Given the description of an element on the screen output the (x, y) to click on. 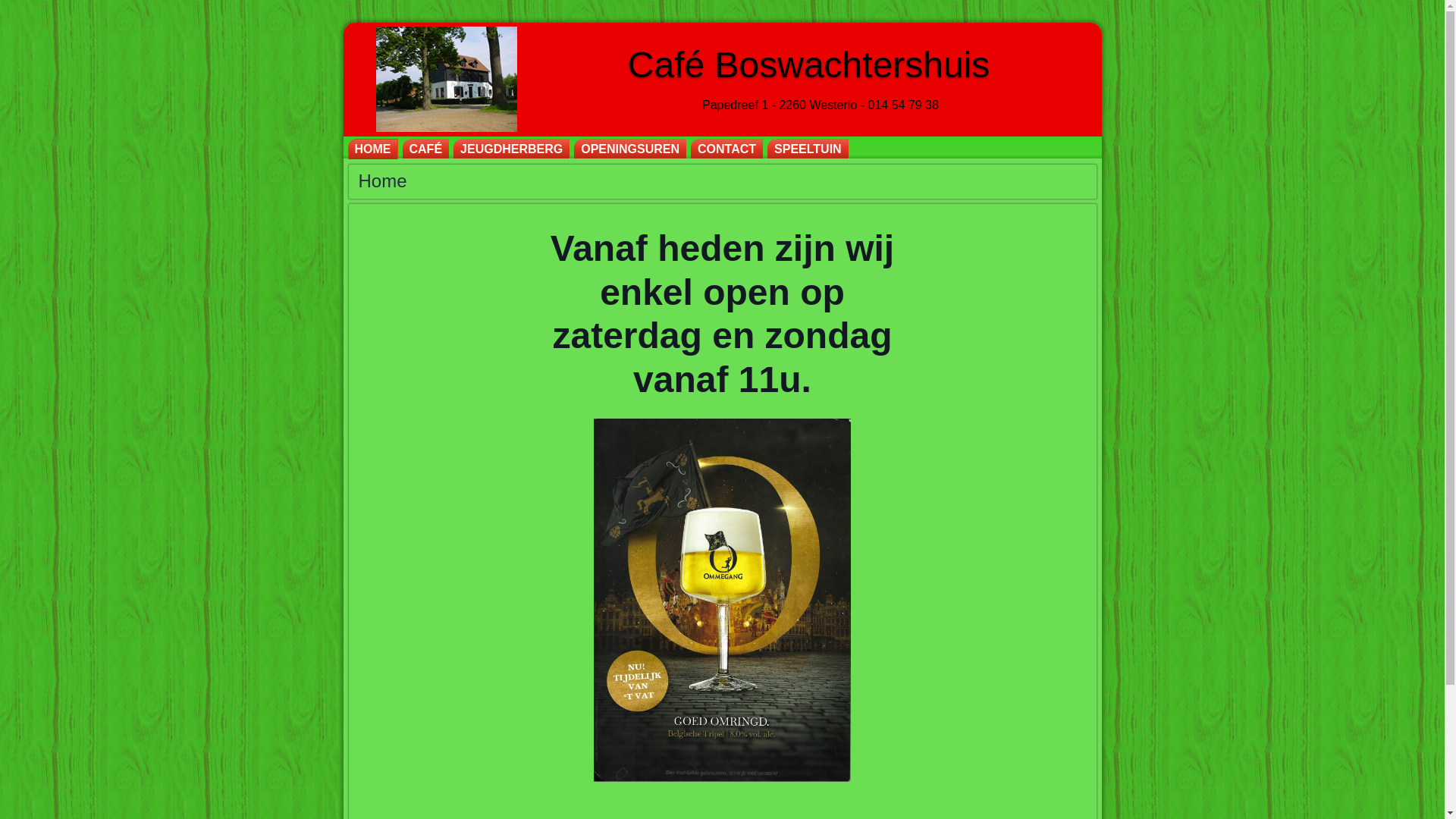
HOME Element type: text (372, 148)
SPEELTUIN Element type: text (807, 148)
OPENINGSUREN Element type: text (630, 148)
CONTACT Element type: text (726, 148)
JEUGDHERBERG Element type: text (511, 148)
